Given the description of an element on the screen output the (x, y) to click on. 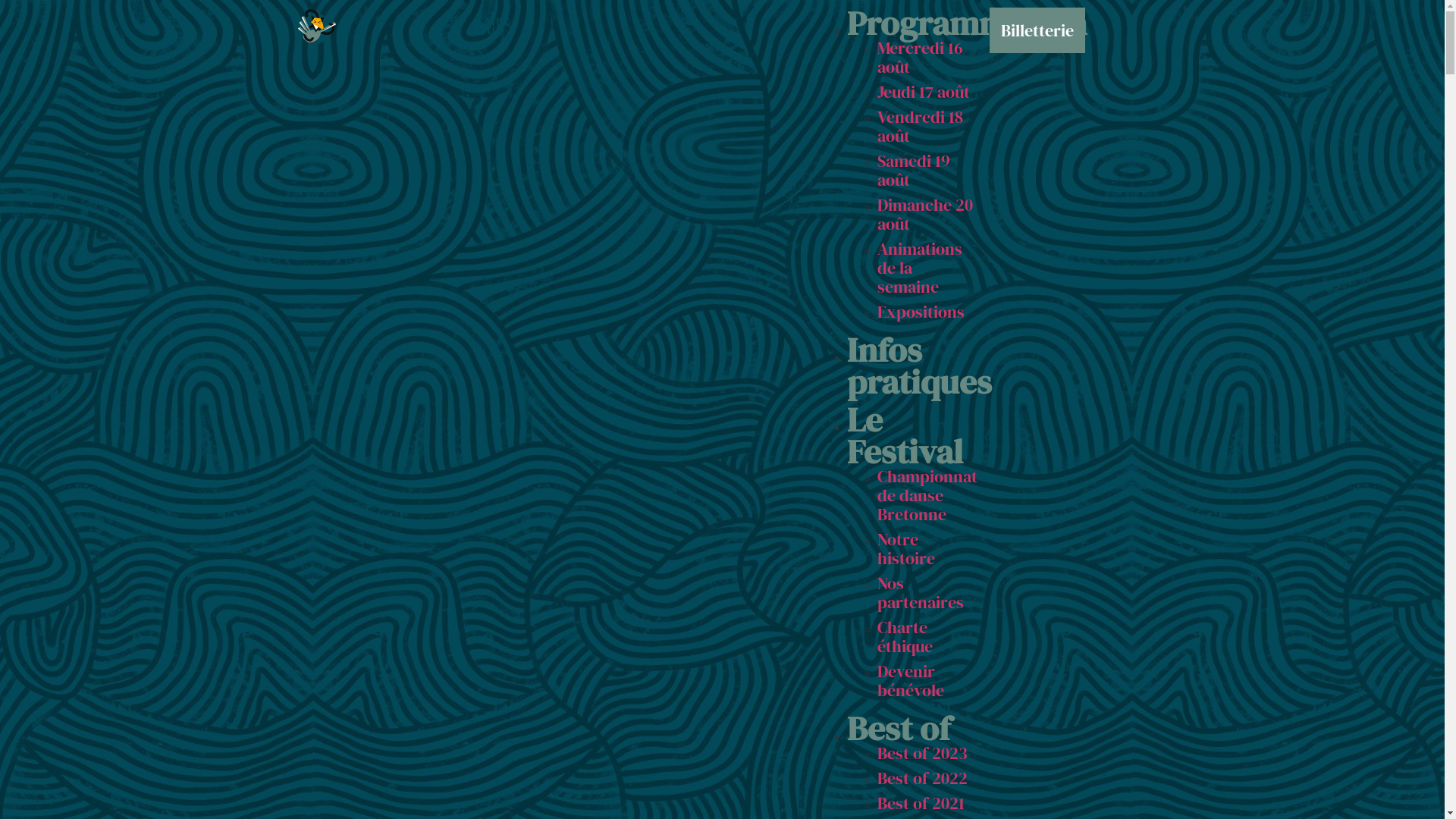
Le Festival Element type: text (904, 434)
Expositions Element type: text (919, 311)
Best of Element type: text (897, 727)
Best of 2022 Element type: text (921, 777)
Infos pratiques Element type: text (918, 365)
Billetterie Element type: text (1036, 30)
Animations de la semaine Element type: text (918, 267)
Notre histoire Element type: text (905, 548)
Best of 2021 Element type: text (919, 802)
Best of 2023 Element type: text (921, 752)
Championnat de danse Bretonne Element type: text (926, 494)
Nos partenaires Element type: text (919, 592)
